Given the description of an element on the screen output the (x, y) to click on. 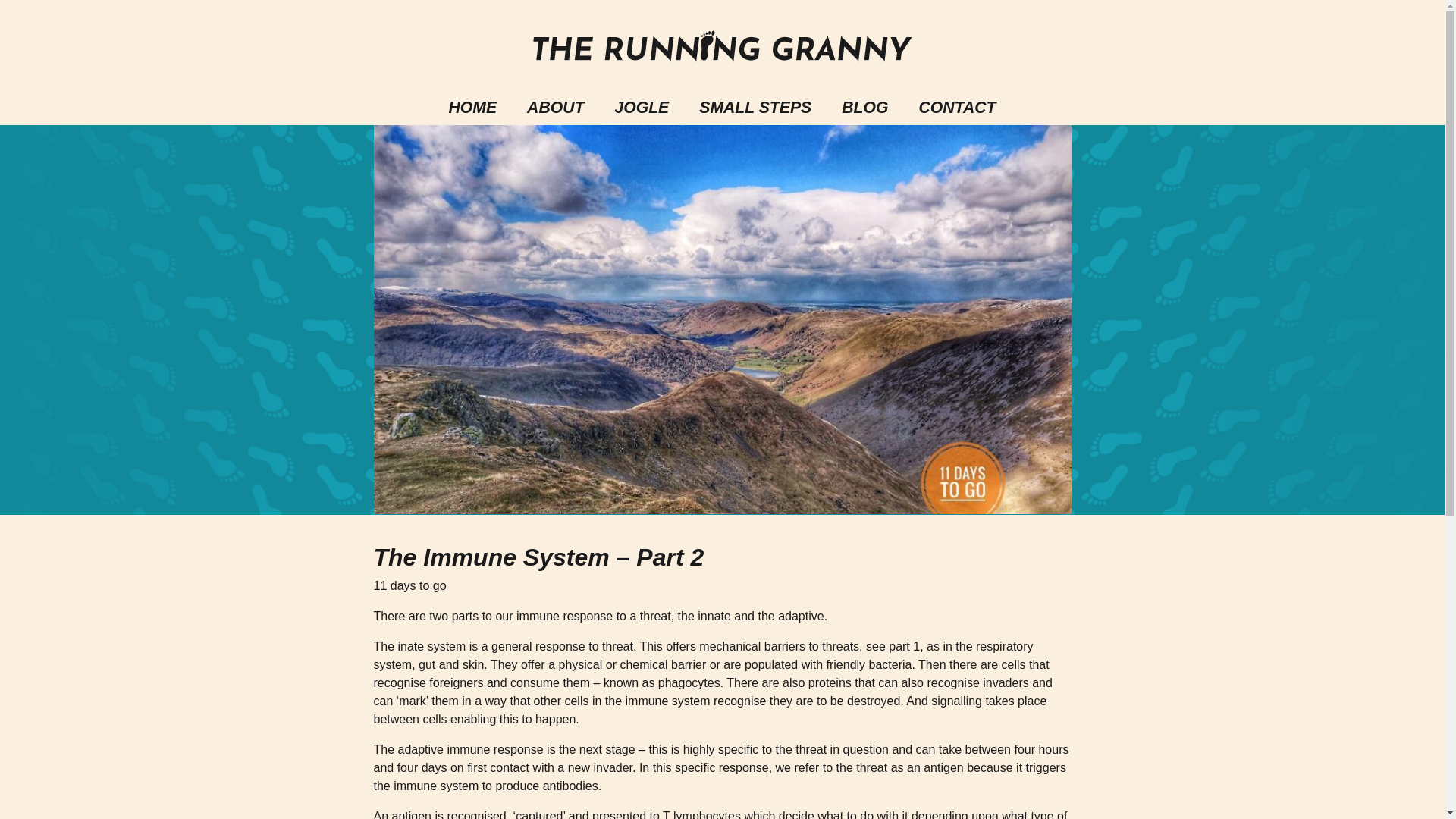
ABOUT (555, 106)
HOME (472, 106)
The Running Granny (721, 45)
SMALL STEPS (755, 106)
CONTACT (956, 106)
The Running Granny (721, 45)
JOGLE (641, 106)
BLOG (864, 106)
